Given the description of an element on the screen output the (x, y) to click on. 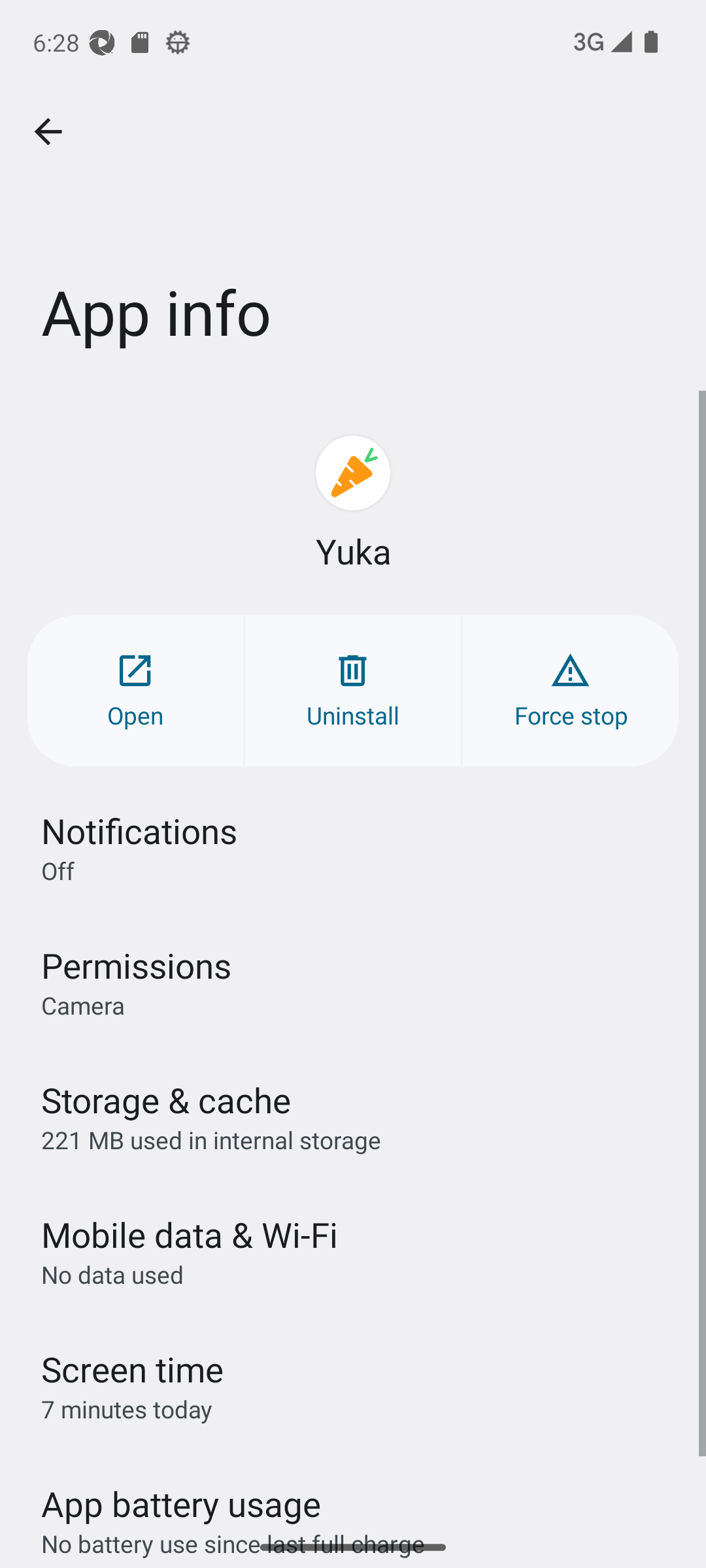
Navigate up (48, 131)
Open (134, 690)
Uninstall (352, 690)
Force stop (570, 690)
Notifications Off (353, 847)
Permissions Camera (353, 981)
Storage & cache 221 MB used in internal storage (353, 1115)
Mobile data & Wi‑Fi No data used (353, 1250)
Screen time 7 minutes today (353, 1385)
